Given the description of an element on the screen output the (x, y) to click on. 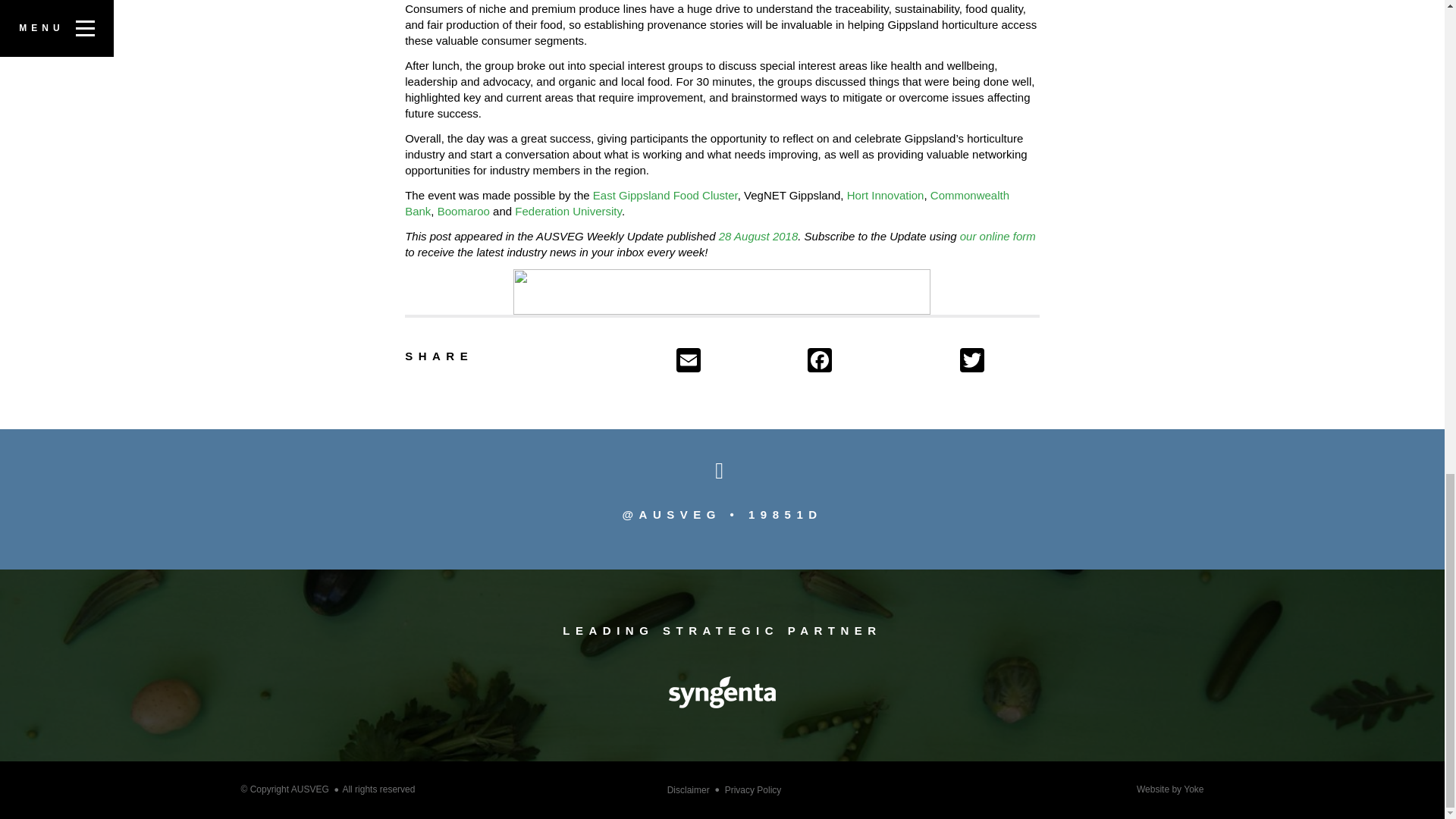
Twitter (997, 361)
Facebook (880, 361)
Email (738, 361)
